Given the description of an element on the screen output the (x, y) to click on. 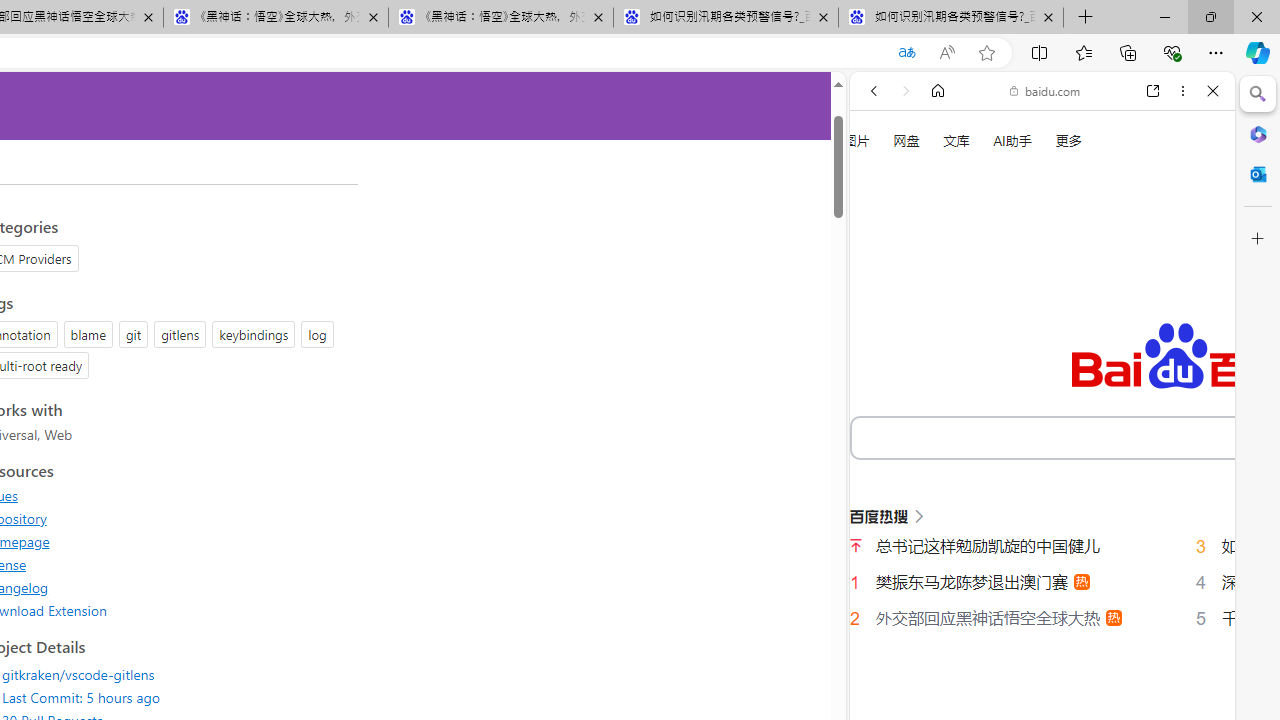
English (Uk) (1042, 628)
Cambridge Dictionary (1034, 698)
